Given the description of an element on the screen output the (x, y) to click on. 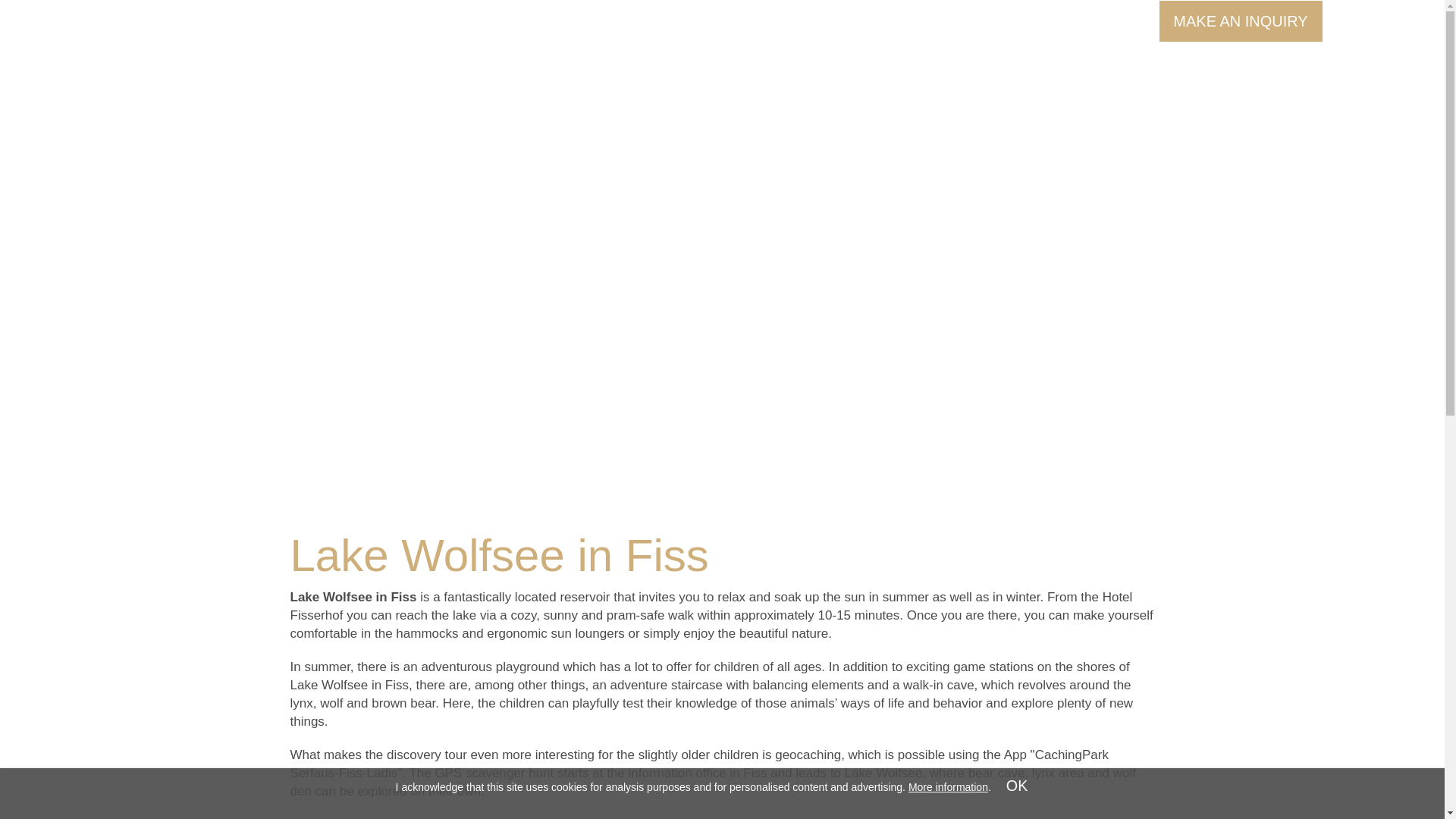
DE (308, 20)
Search (362, 19)
Weather (393, 23)
MAKE AN INQUIRY (1240, 20)
Mail Hotel Fiss (1082, 19)
Call Hotel Fiss (952, 19)
Hotel Fiss (722, 62)
